Given the description of an element on the screen output the (x, y) to click on. 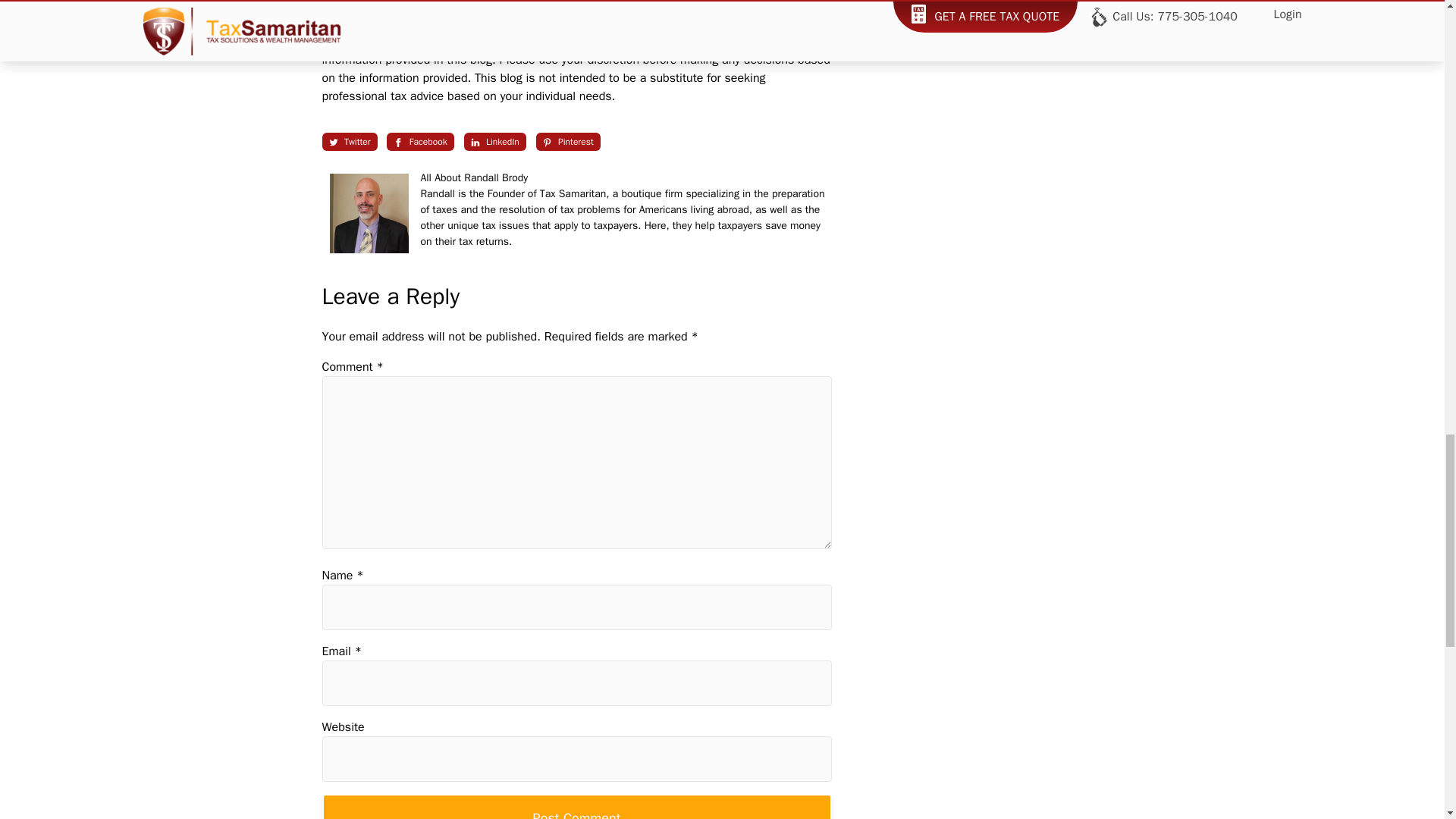
Share on Twitter (349, 141)
Share on Pinterest (567, 141)
Share on Facebook (419, 141)
Post Comment (576, 806)
Share on LinkedIn (494, 141)
